Given the description of an element on the screen output the (x, y) to click on. 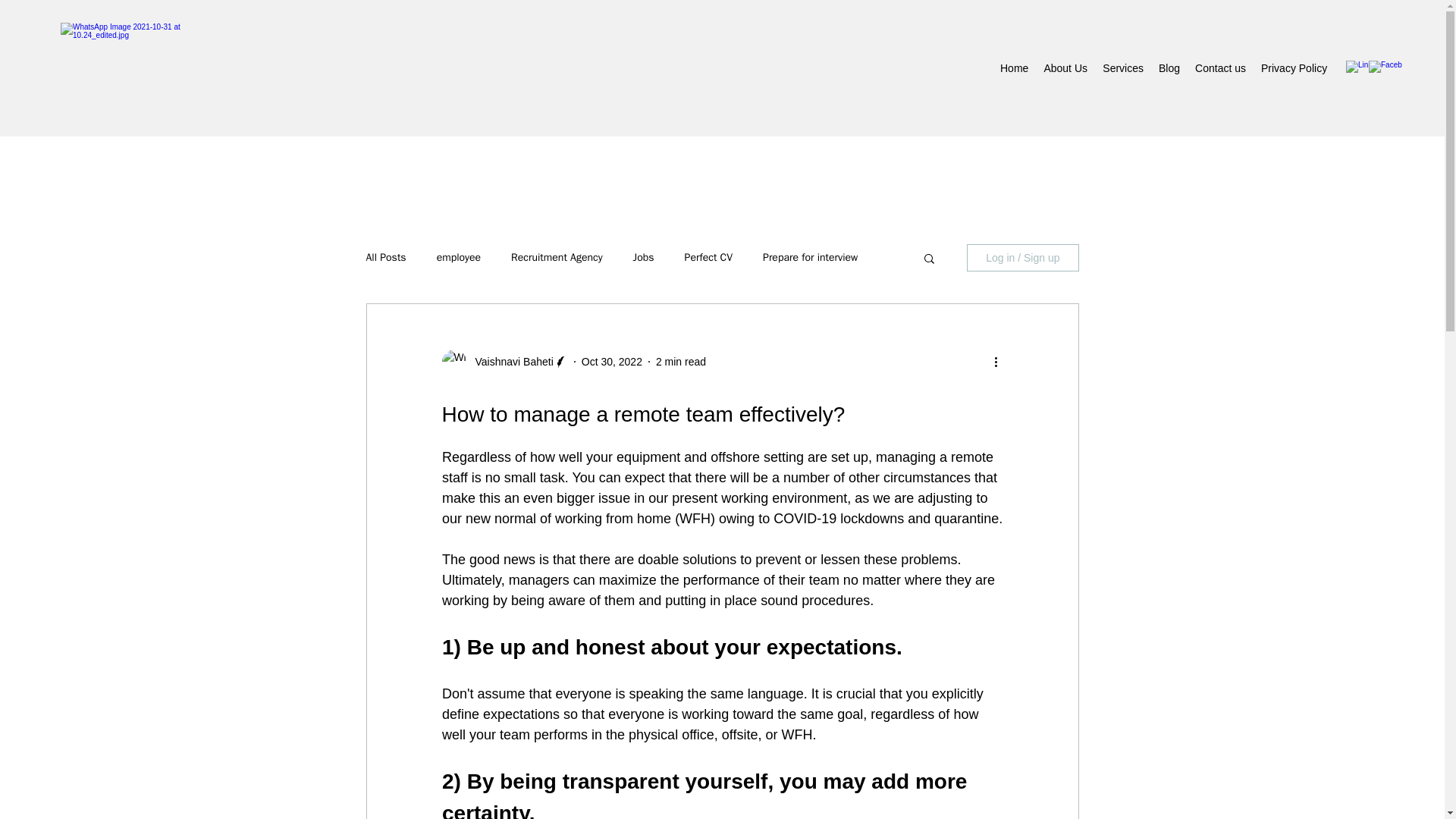
Home (1013, 67)
Oct 30, 2022 (611, 360)
Prepare for interview (809, 257)
2 min read (681, 360)
Contact us (1220, 67)
Recruitment Agency (556, 257)
employee (458, 257)
Blog (1169, 67)
Privacy Policy (1294, 67)
Services (1122, 67)
All Posts (385, 257)
Vaishnavi Baheti (509, 360)
Perfect CV (708, 257)
Jobs (643, 257)
About Us (1064, 67)
